Given the description of an element on the screen output the (x, y) to click on. 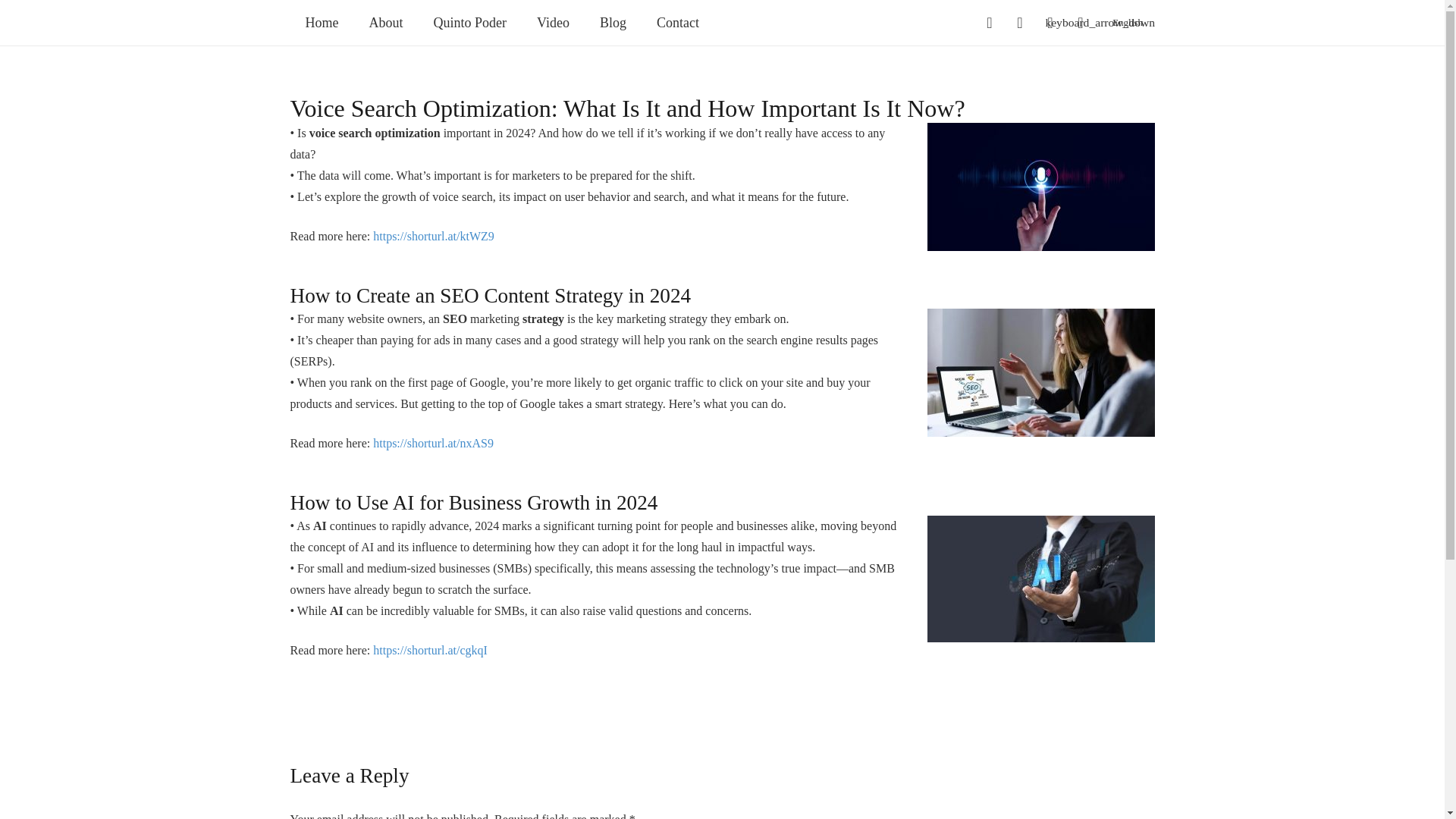
Blog (613, 22)
LinkedIn (1050, 22)
English (1132, 22)
Contact (678, 22)
Twitter (1019, 22)
Home (321, 22)
Facebook (989, 22)
Quinto Poder (470, 22)
About (385, 22)
Video (553, 22)
YouTube (1080, 22)
